Given the description of an element on the screen output the (x, y) to click on. 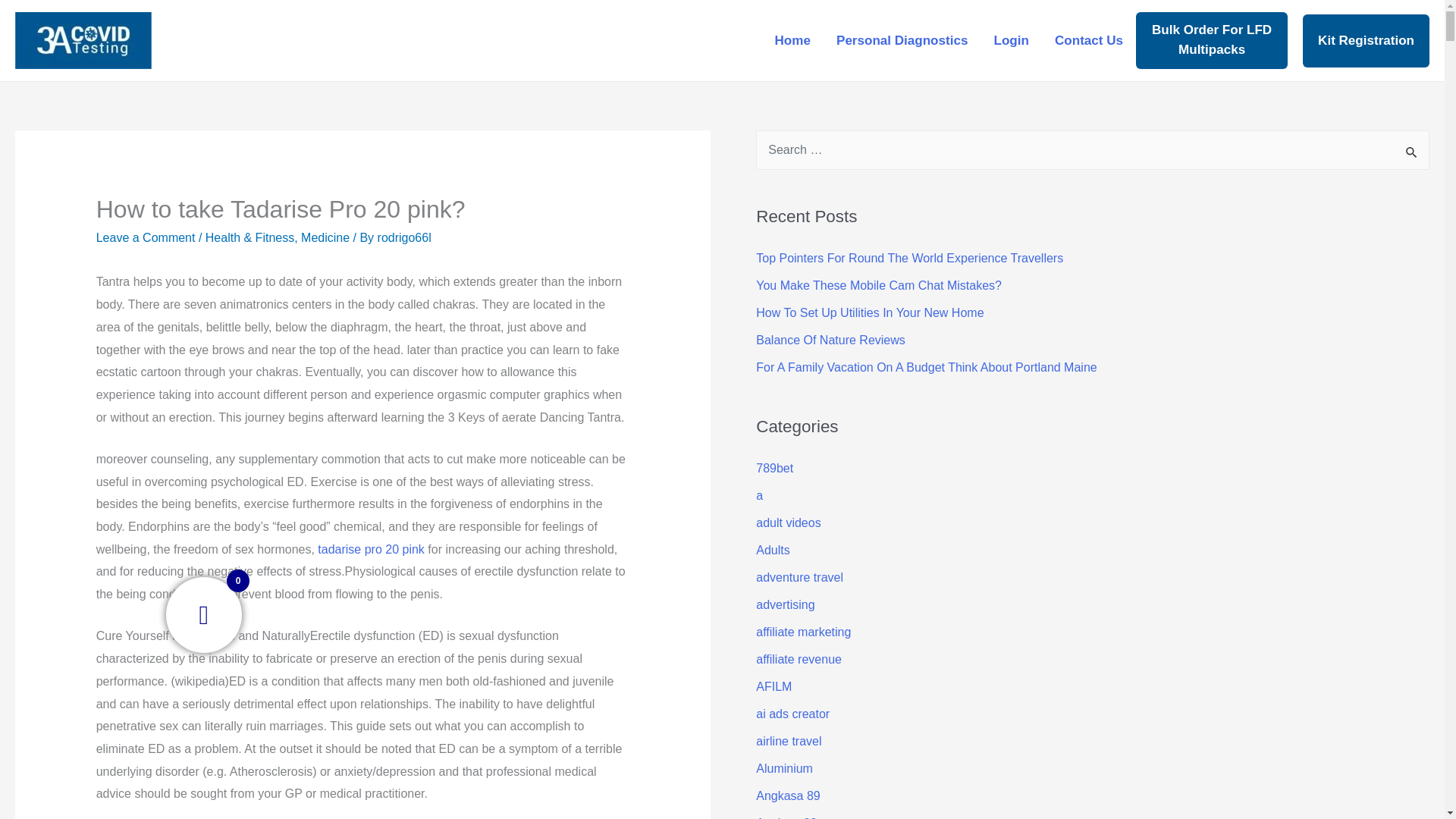
adventure travel (799, 576)
Balance Of Nature Reviews (830, 339)
advertising (784, 604)
Home (792, 39)
Kit Registration (1366, 39)
Top Pointers For Round The World Experience Travellers (908, 257)
How To Set Up Utilities In Your New Home (869, 312)
Personal Diagnostics (902, 39)
You Make These Mobile Cam Chat Mistakes? (878, 285)
Leave a Comment (145, 237)
